Given the description of an element on the screen output the (x, y) to click on. 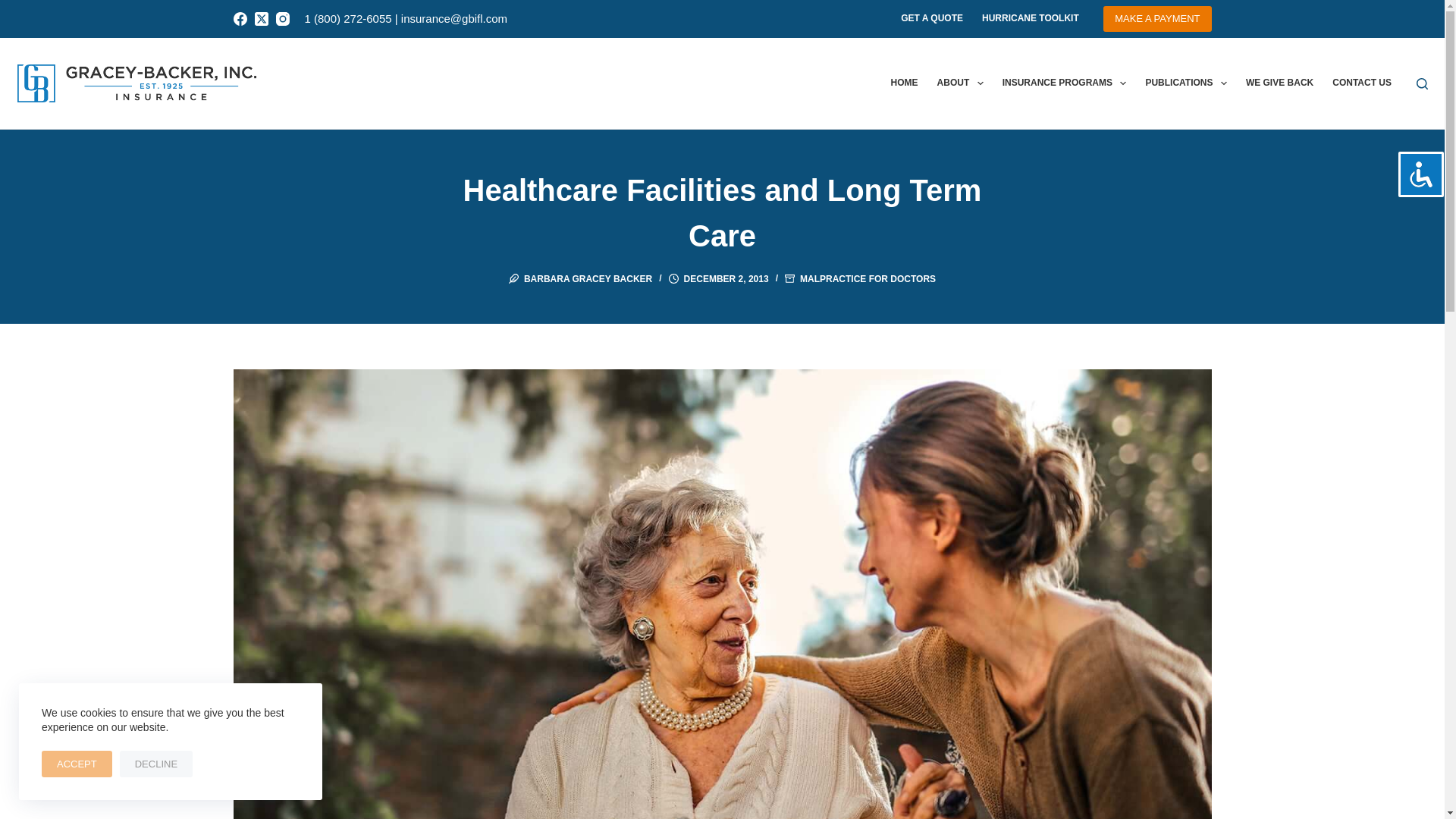
Posts by Barbara Gracey Backer (588, 278)
ACCEPT (77, 764)
Skip to content (15, 7)
GET A QUOTE (931, 18)
Healthcare Facilities and Long Term Care (722, 212)
DECLINE (155, 764)
